Given the description of an element on the screen output the (x, y) to click on. 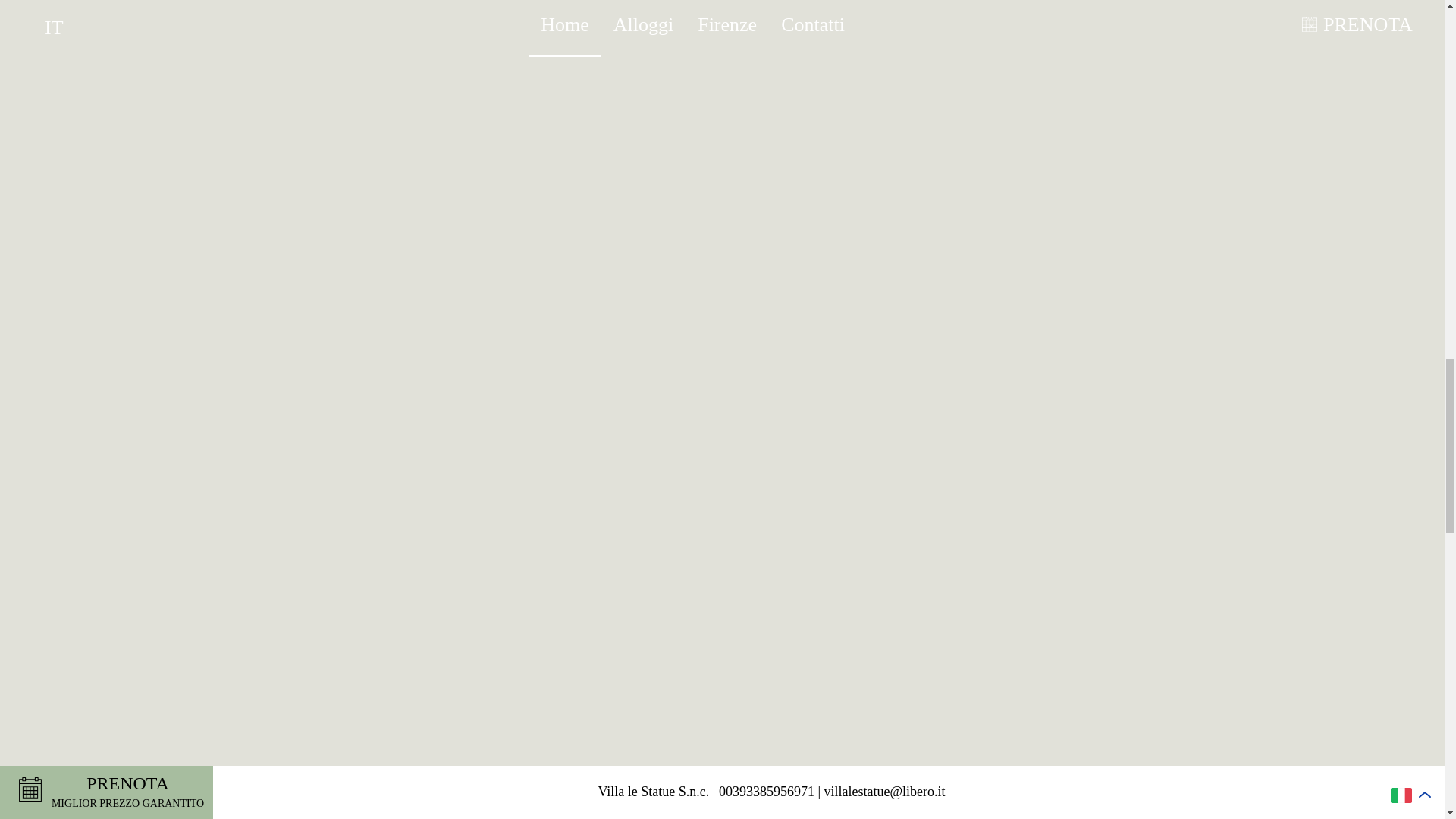
SCOPRIRE (721, 782)
